Given the description of an element on the screen output the (x, y) to click on. 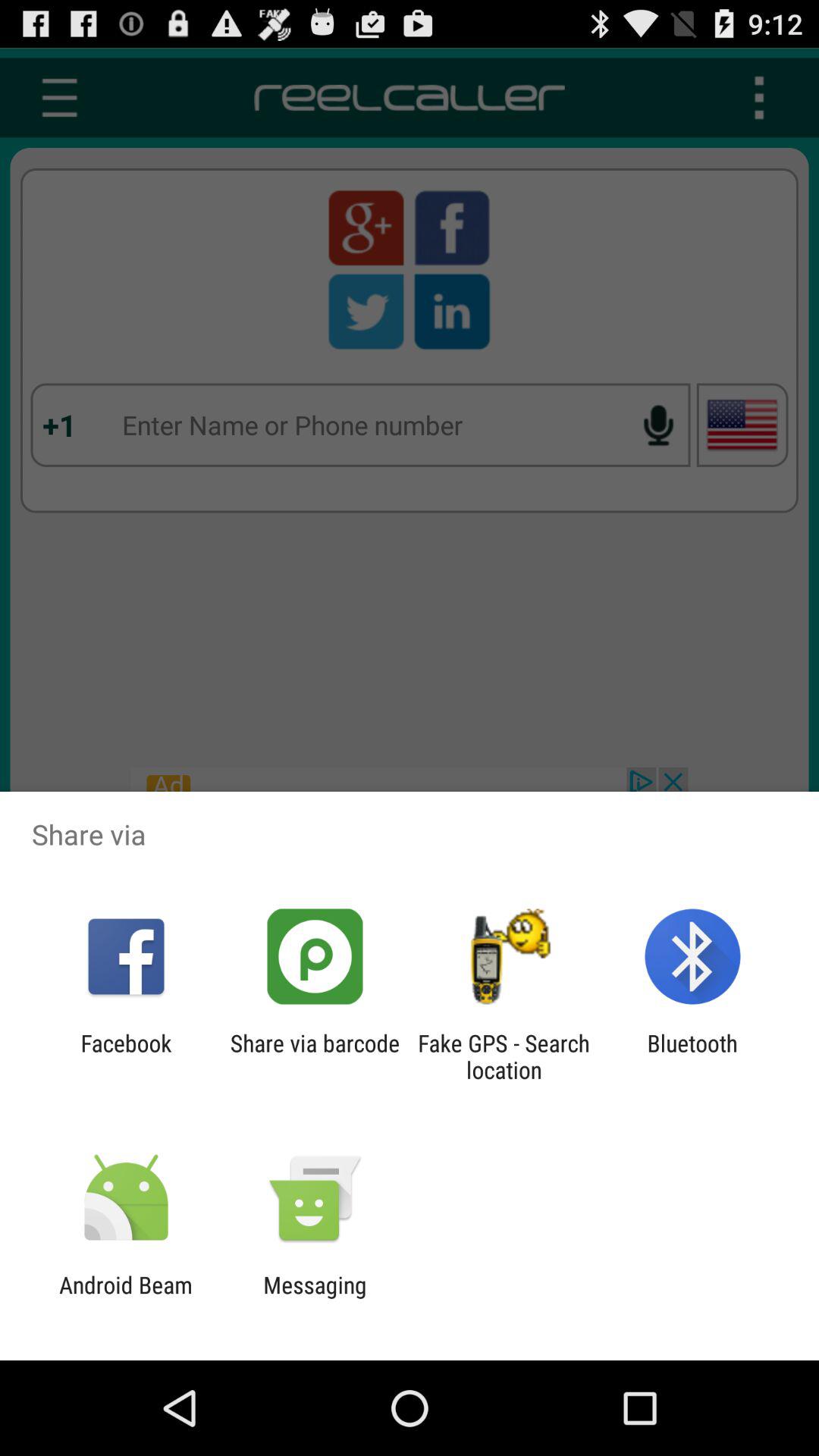
tap app to the left of share via barcode app (125, 1056)
